Given the description of an element on the screen output the (x, y) to click on. 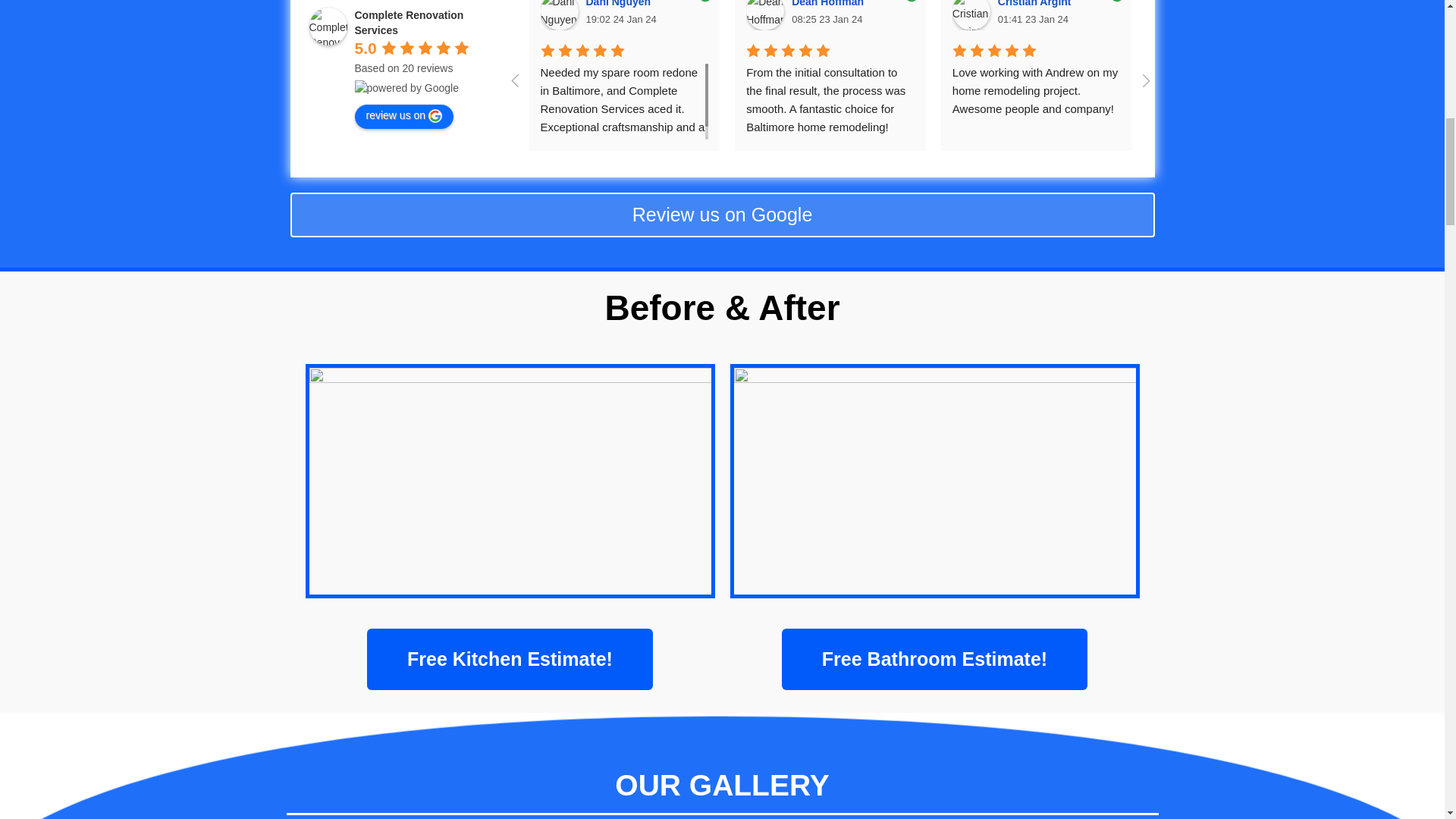
review us on (404, 116)
Dean Hoffman (764, 15)
powered by Google (406, 87)
Cristian Argint (1036, 3)
Dani Nguyen (620, 3)
Emmanuel Padilla (1383, 15)
Cristian Argint (971, 15)
Dani Nguyen (559, 15)
Complete Renovation Services (327, 26)
Complete Renovation Services (409, 22)
Dean Hoffman (829, 3)
A Google User (1176, 15)
